Given the description of an element on the screen output the (x, y) to click on. 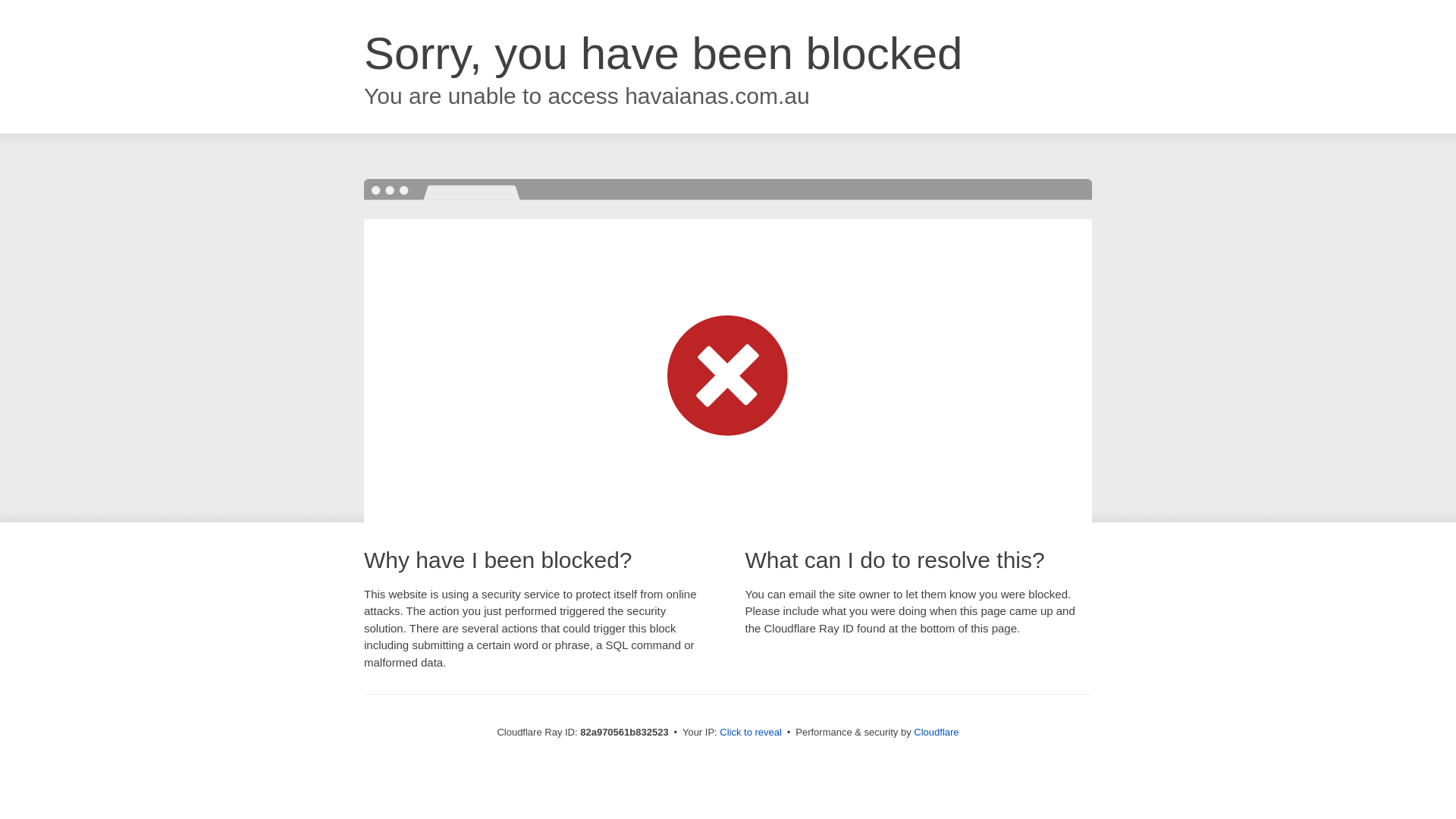
Cloudflare Element type: text (935, 731)
Click to reveal Element type: text (750, 732)
